Given the description of an element on the screen output the (x, y) to click on. 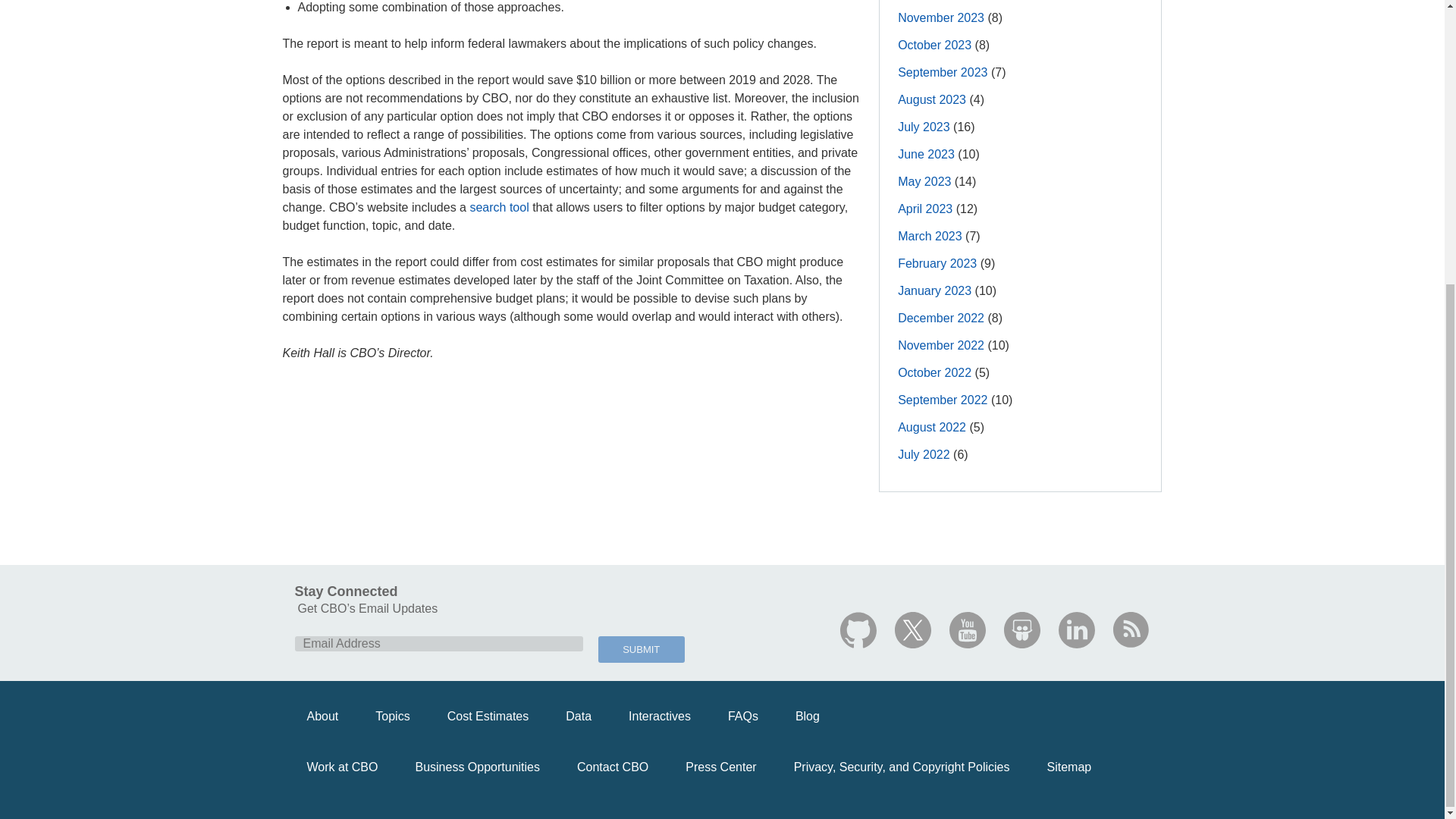
October 2022 (934, 372)
September 2022 (942, 399)
June 2023 (926, 154)
CBO Slideshare (1022, 629)
January 2023 (934, 290)
CBO X (913, 629)
CBO Youtube (967, 629)
April 2023 (925, 208)
May 2023 (924, 181)
December 2022 (941, 318)
CBO LinkedIn (1076, 629)
November 2022 (941, 345)
August 2023 (932, 99)
August 2022 (932, 427)
search tool (498, 206)
